Given the description of an element on the screen output the (x, y) to click on. 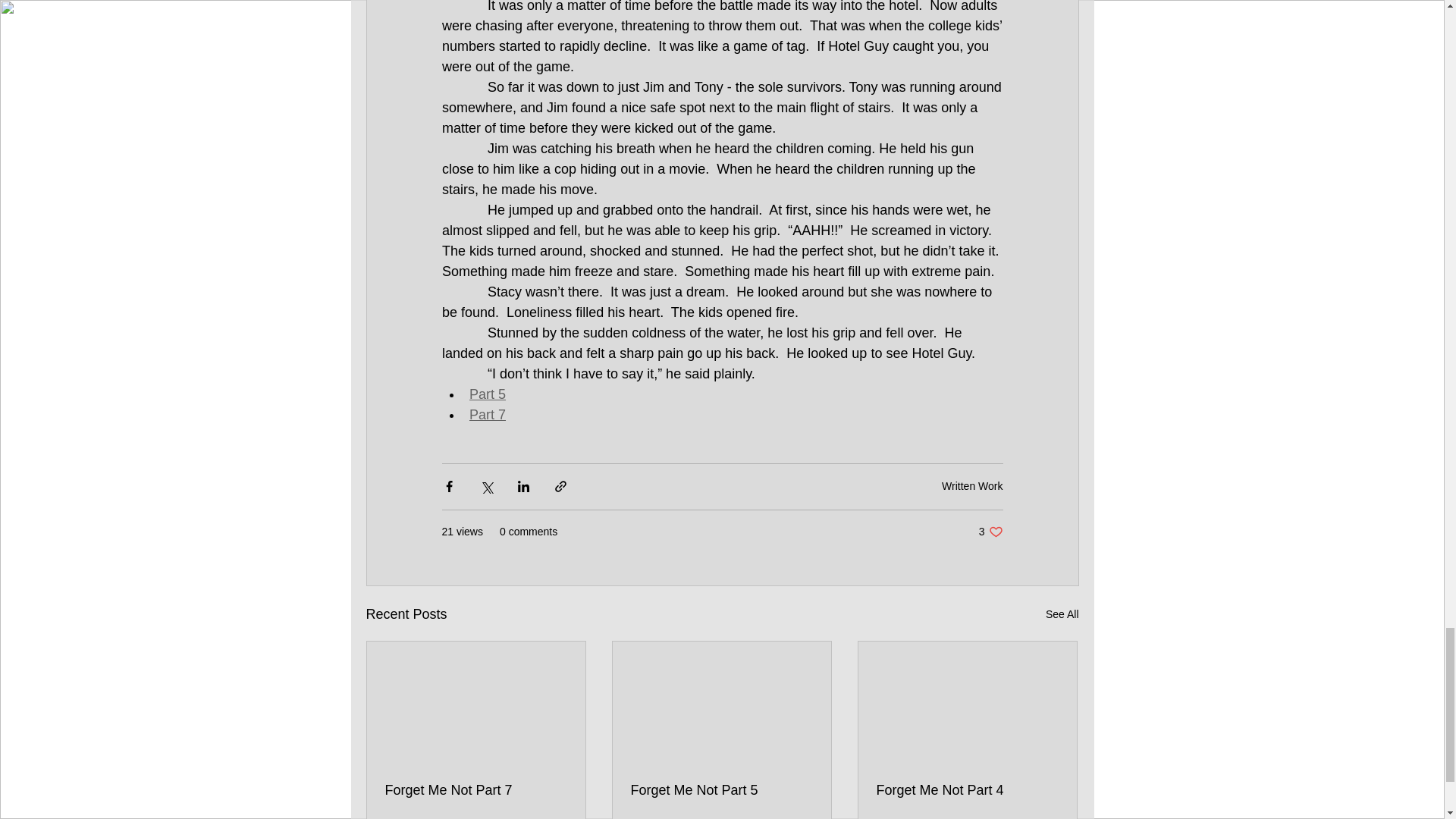
Written Work (972, 485)
See All (990, 531)
Forget Me Not Part 7 (1061, 614)
Forget Me Not Part 5 (476, 790)
Part 7 (721, 790)
Part 5 (486, 414)
